Given the description of an element on the screen output the (x, y) to click on. 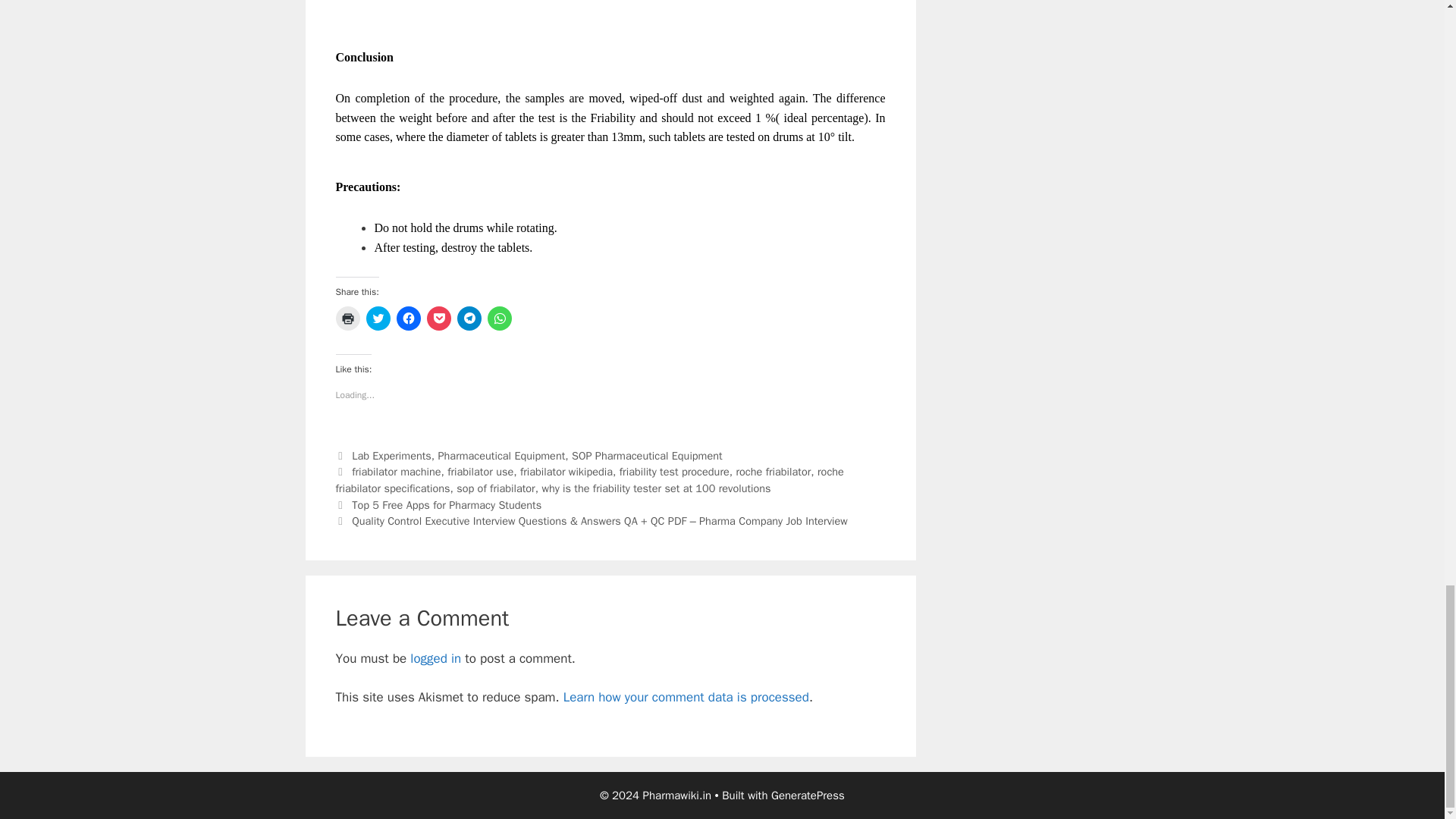
Click to share on Facebook (408, 318)
SOP Pharmaceutical Equipment (647, 455)
Click to share on Telegram (468, 318)
Click to share on Twitter (377, 318)
Click to share on WhatsApp (498, 318)
friabilator machine (396, 471)
Lab Experiments (391, 455)
Click to share on Pocket (437, 318)
Click to print (346, 318)
Pharmaceutical Equipment (502, 455)
